Given the description of an element on the screen output the (x, y) to click on. 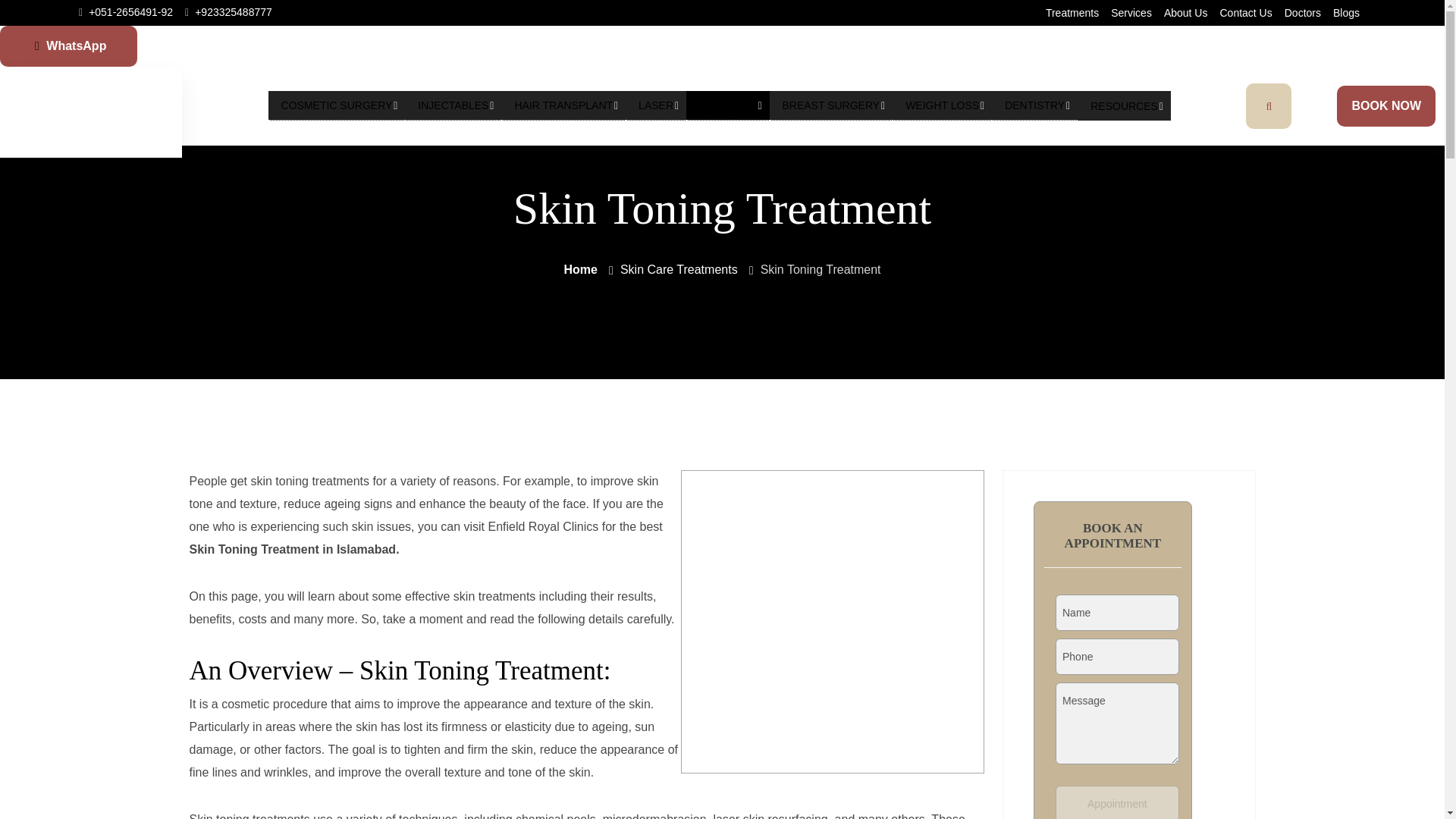
Doctors (1302, 12)
Contact Us (1245, 12)
Blogs (1346, 12)
Appointment (1117, 802)
COSMETIC SURGERY (336, 104)
WhatsApp (68, 45)
About Us (1185, 5)
INJECTABLES (452, 104)
